Given the description of an element on the screen output the (x, y) to click on. 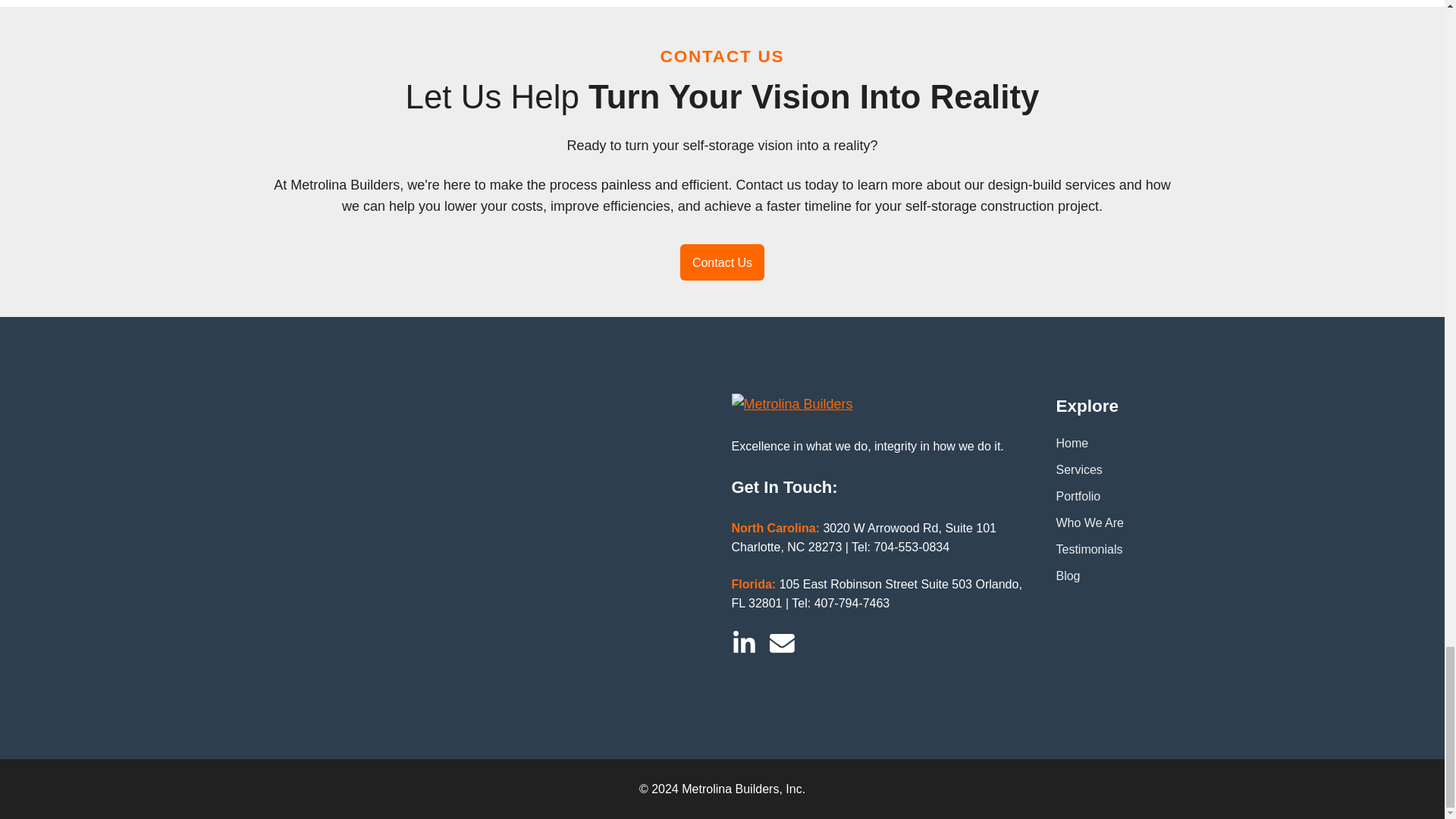
Metrolina Builders (790, 403)
